Given the description of an element on the screen output the (x, y) to click on. 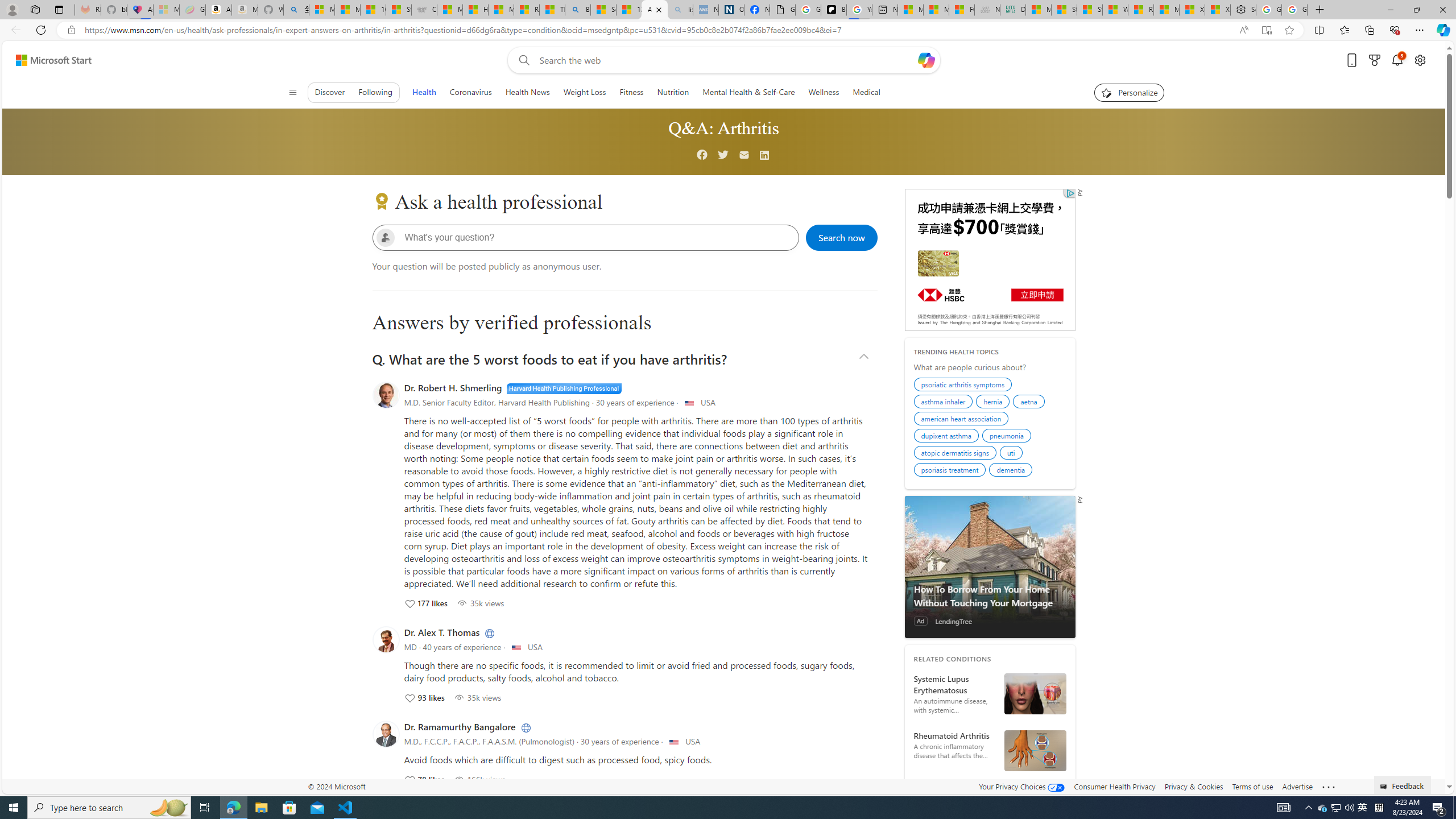
Class: qc-adchoices-icon (1069, 193)
Medical (865, 92)
Nutrition (672, 92)
Privacy & Cookies (1193, 785)
psoriasis treatment (951, 470)
Class: feedback_link_icon-DS-EntryPoint1-1 (1384, 786)
